Given the description of an element on the screen output the (x, y) to click on. 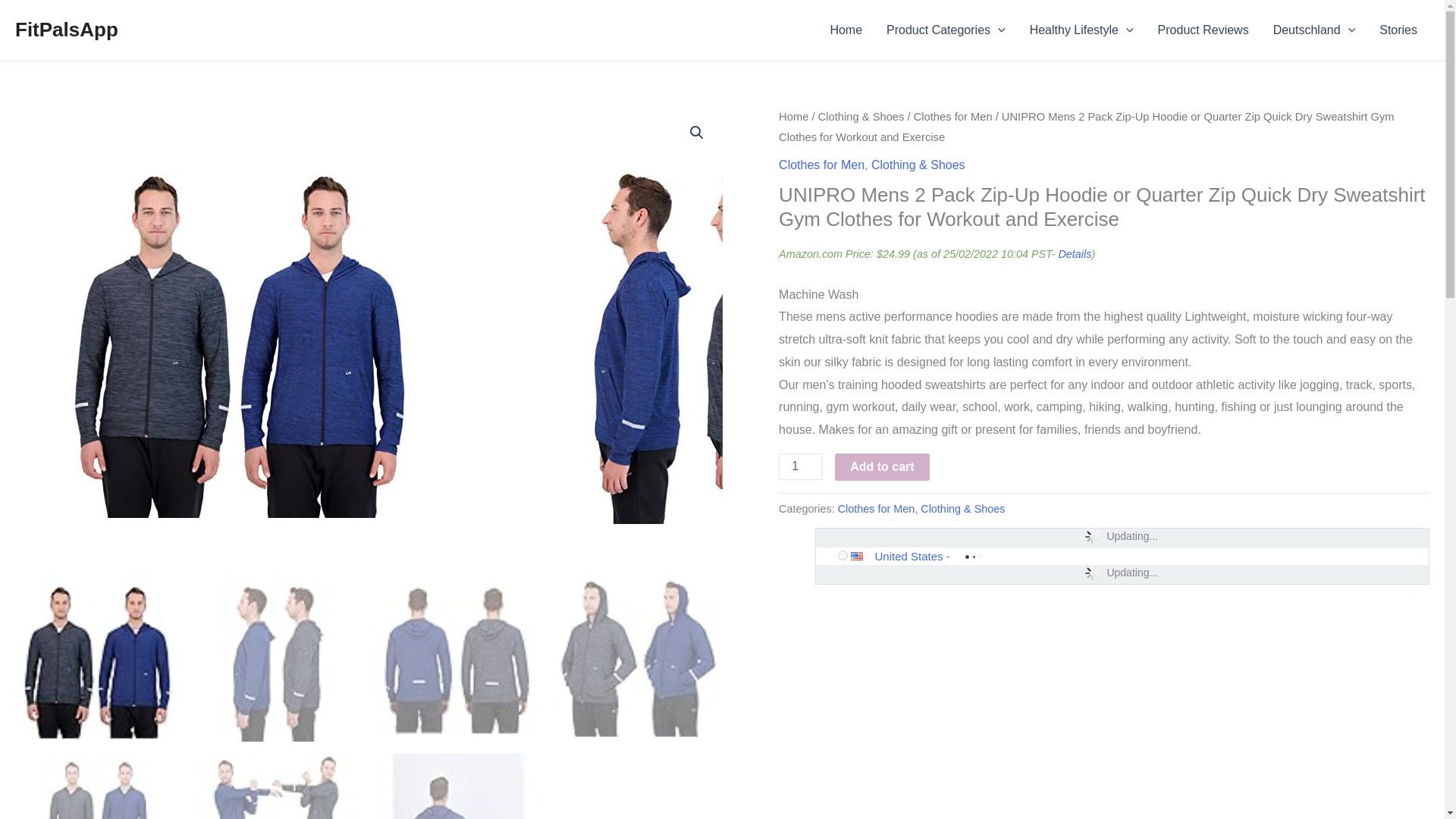
1 (800, 466)
FitPalsApp (65, 29)
United States (862, 555)
Qty (800, 466)
on (842, 555)
Product Categories (946, 30)
Home (845, 30)
